Given the description of an element on the screen output the (x, y) to click on. 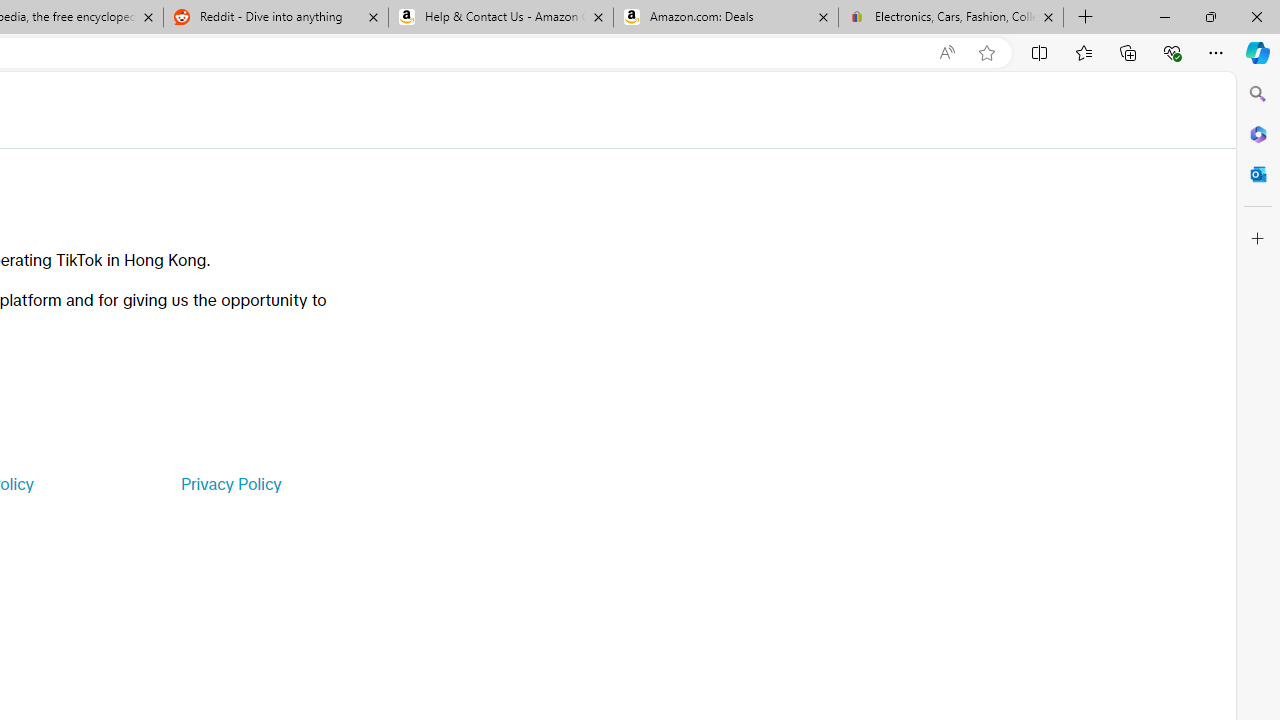
Amazon.com: Deals (726, 17)
